Given the description of an element on the screen output the (x, y) to click on. 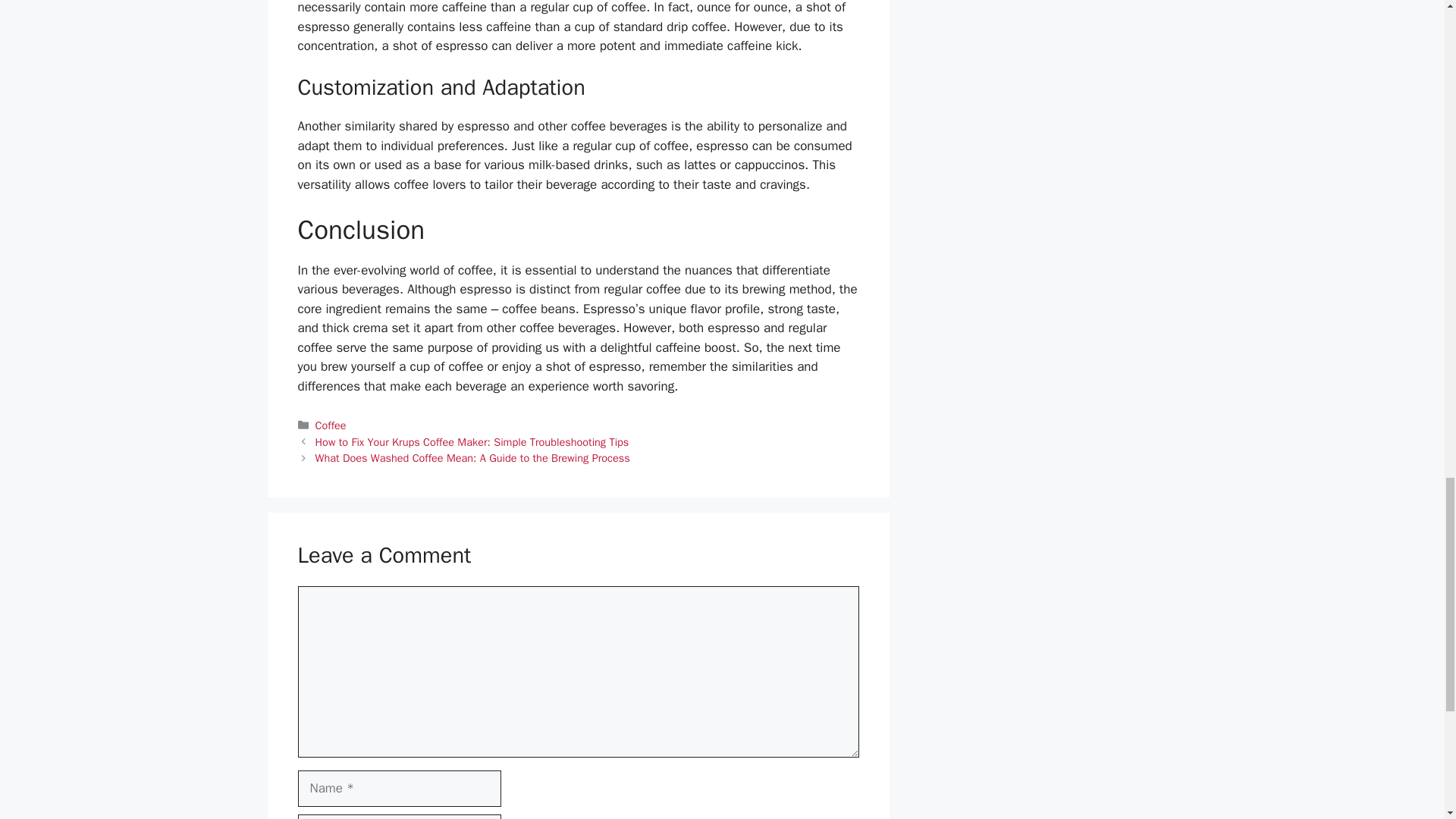
Coffee (330, 425)
What Does Washed Coffee Mean: A Guide to the Brewing Process (472, 458)
